Given the description of an element on the screen output the (x, y) to click on. 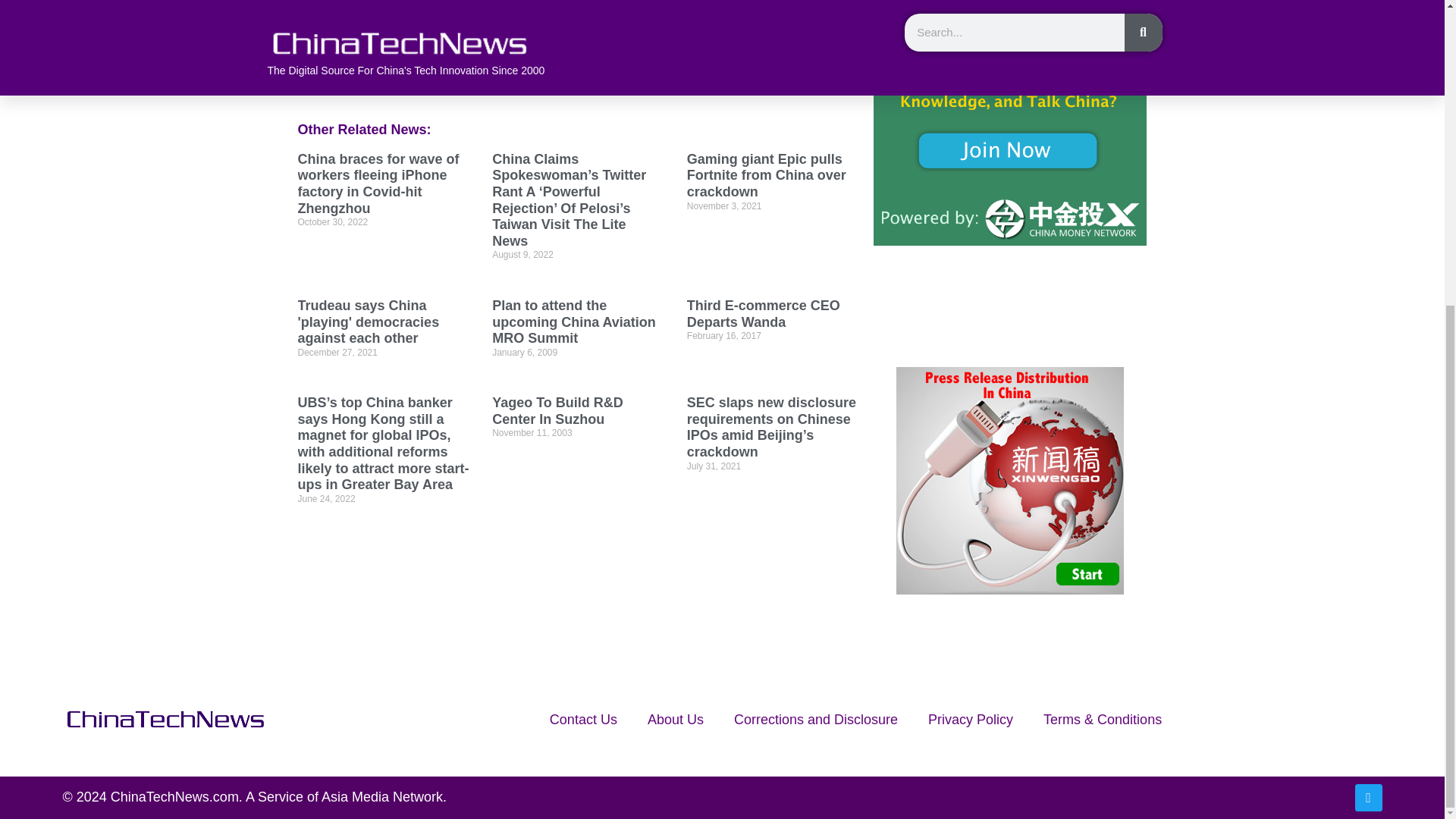
CTO (492, 45)
Asia Media Network (381, 796)
Cloud Computing (422, 45)
Contact Us (582, 719)
Asia Media Network (381, 796)
Privacy Policy (969, 719)
Plan to attend the upcoming China Aviation MRO Summit (574, 321)
Corrections and Disclosure (815, 719)
Beijing (348, 45)
